Given the description of an element on the screen output the (x, y) to click on. 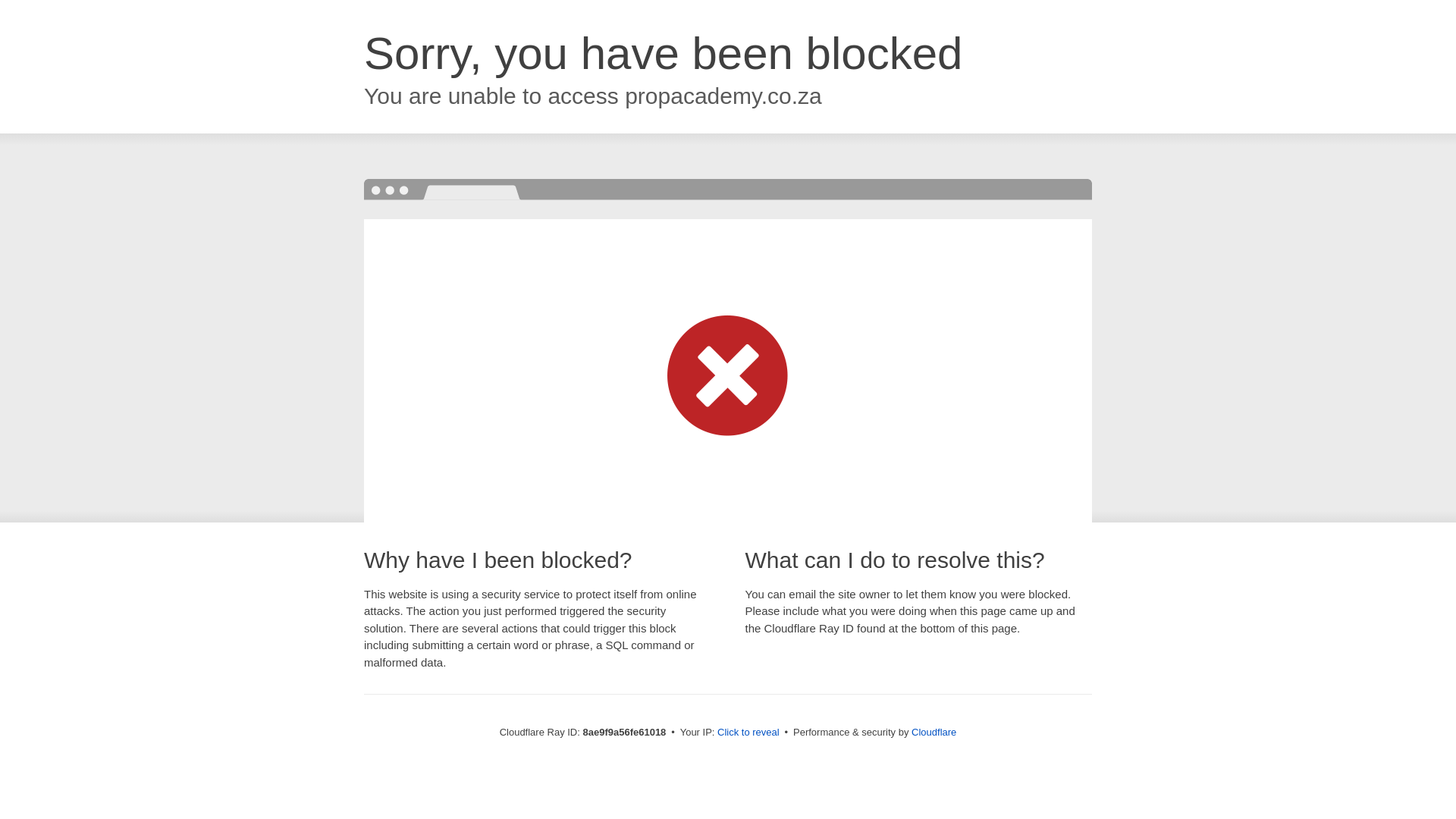
Cloudflare (933, 731)
Click to reveal (747, 732)
